Given the description of an element on the screen output the (x, y) to click on. 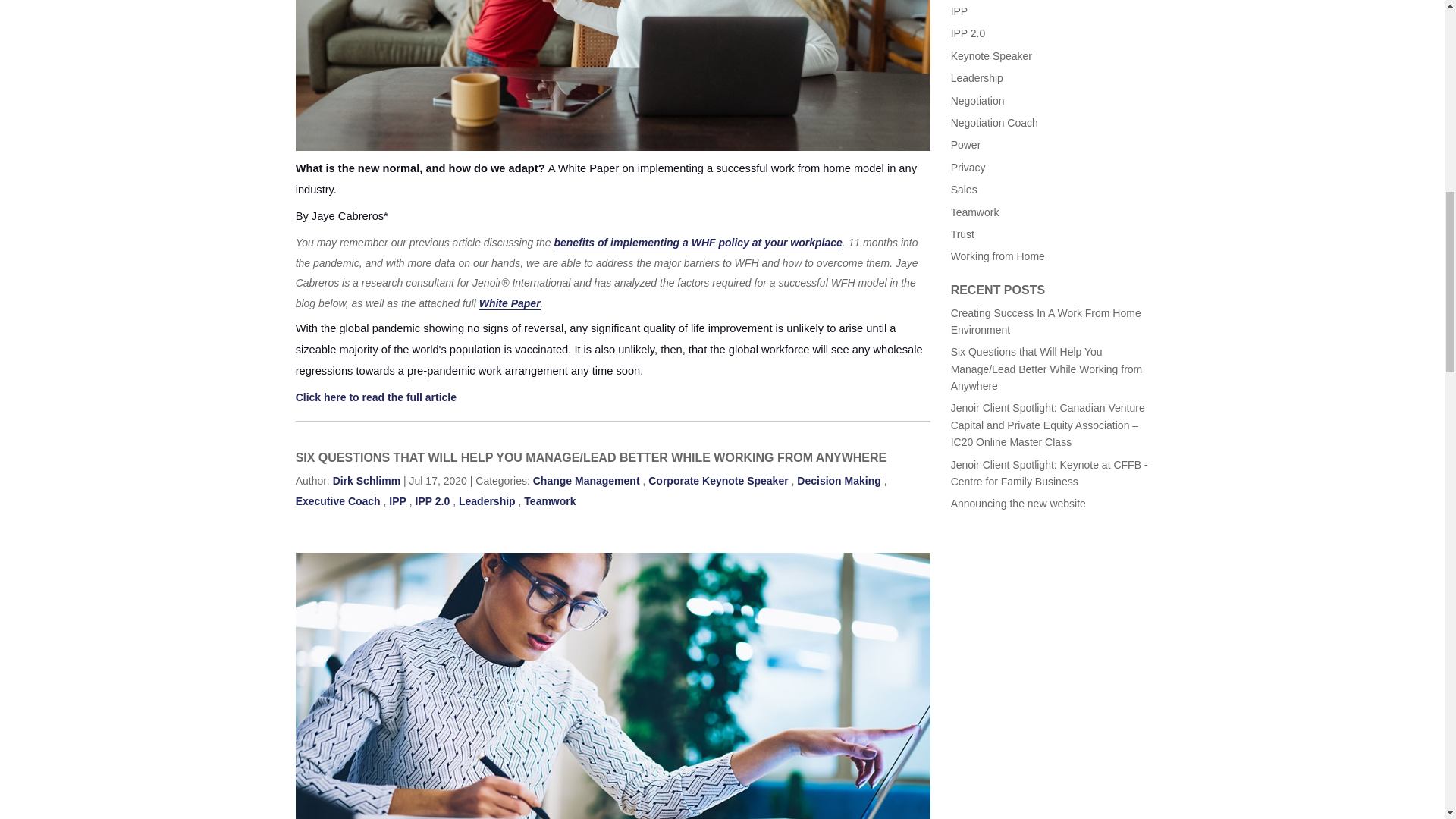
benefits of implementing a WHF policy at your workplace (697, 242)
Change Management (586, 480)
Click here to read the full article (376, 397)
White Paper (509, 303)
